Given the description of an element on the screen output the (x, y) to click on. 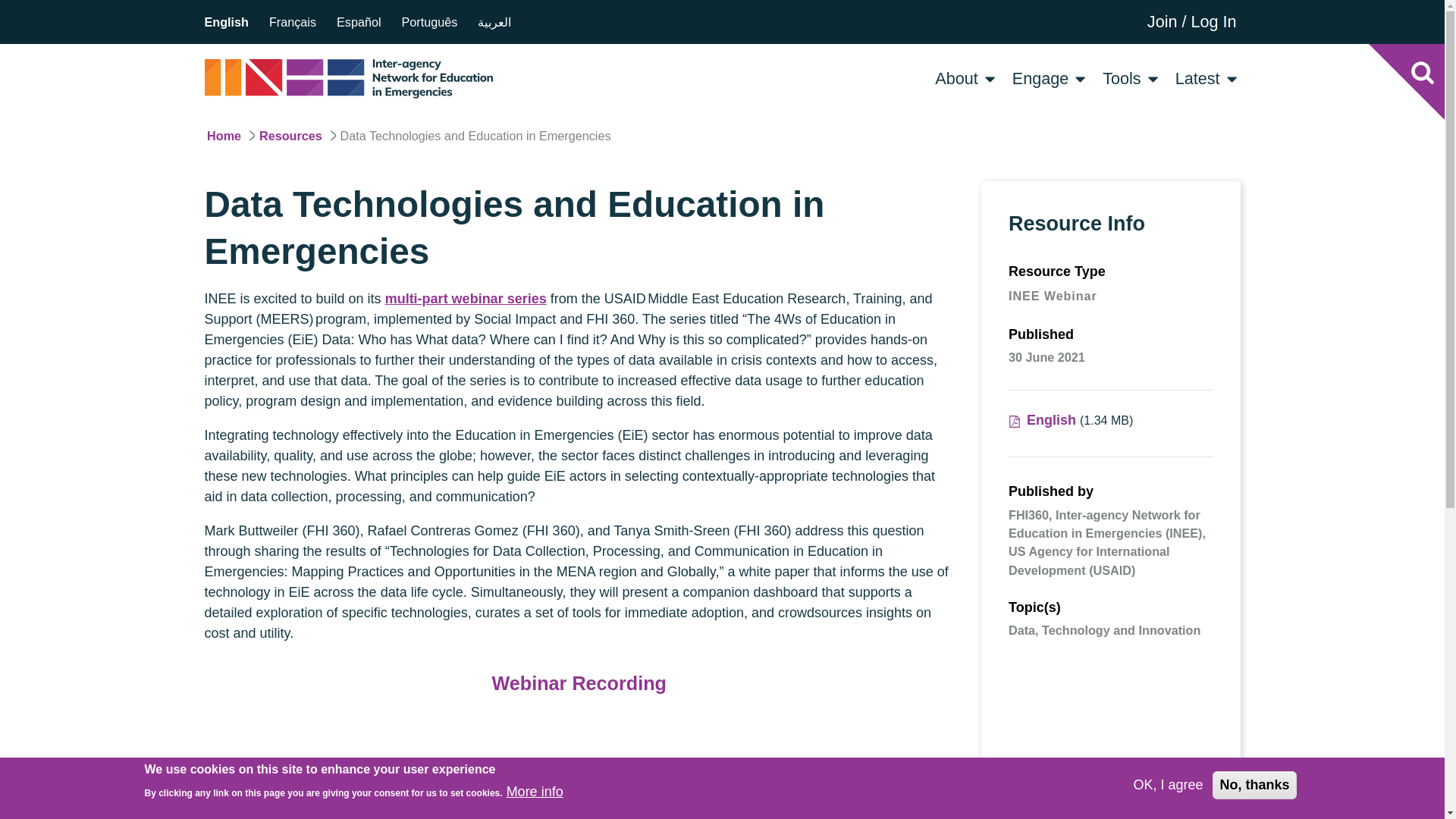
INEE (349, 78)
Engage (1039, 77)
About (955, 77)
English (226, 21)
Search (1422, 71)
